Given the description of an element on the screen output the (x, y) to click on. 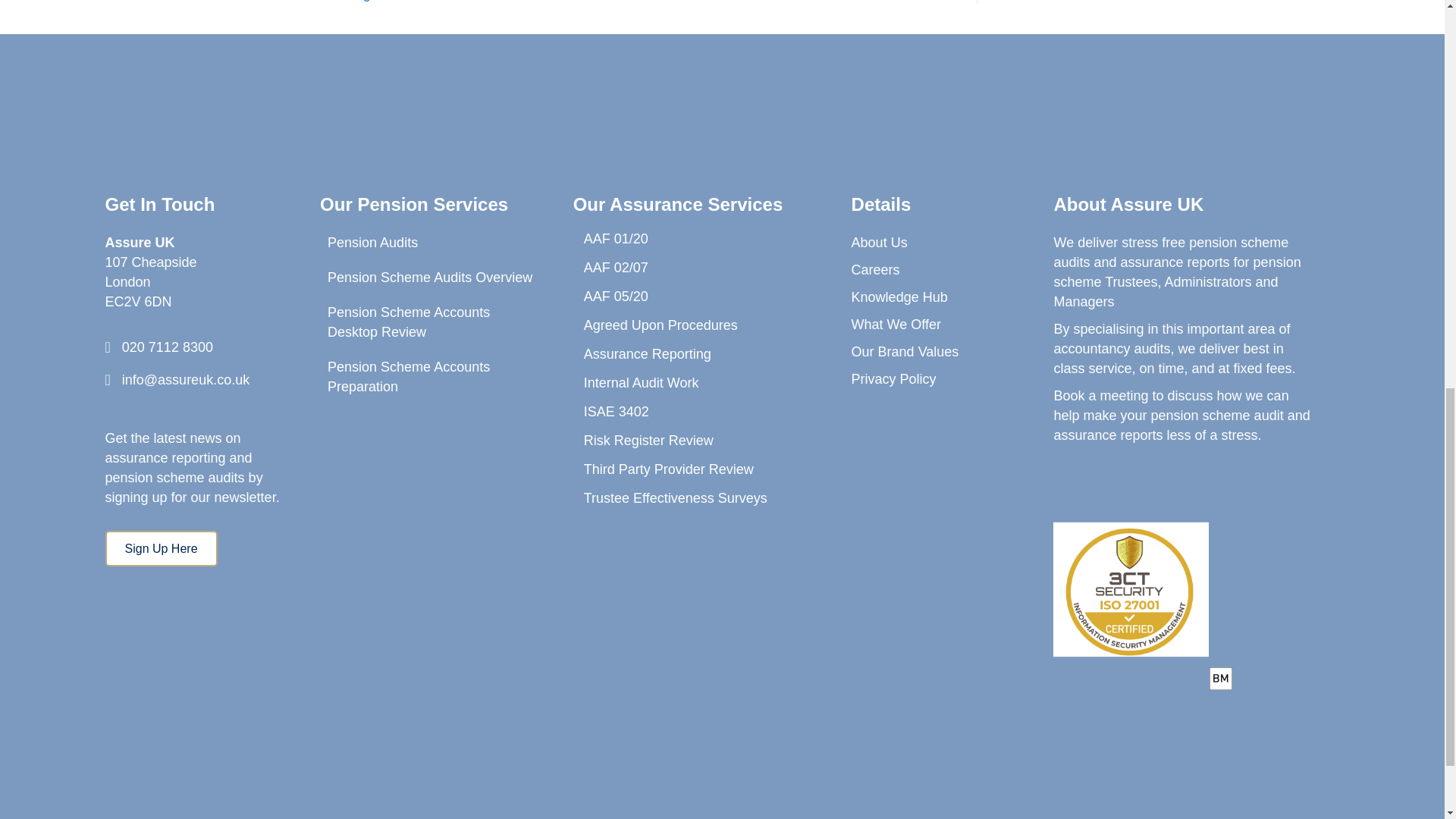
Business Insight (332, 0)
Sign Up Here (160, 548)
Pension Scheme Audits Overview (431, 277)
Pension Scheme Accounts Desktop Review (431, 321)
020 7112 8300 (167, 346)
Pension Audits (431, 242)
